Given the description of an element on the screen output the (x, y) to click on. 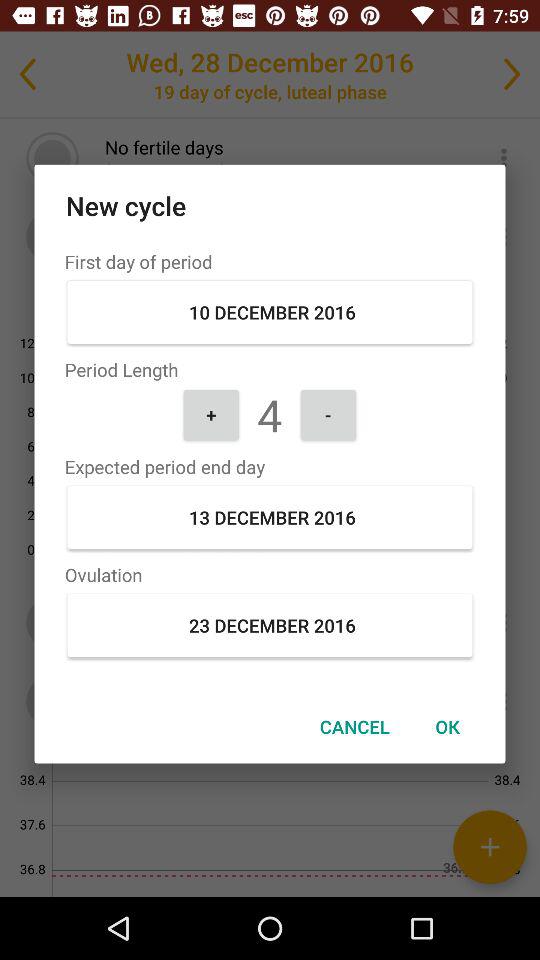
swipe until + icon (211, 414)
